Given the description of an element on the screen output the (x, y) to click on. 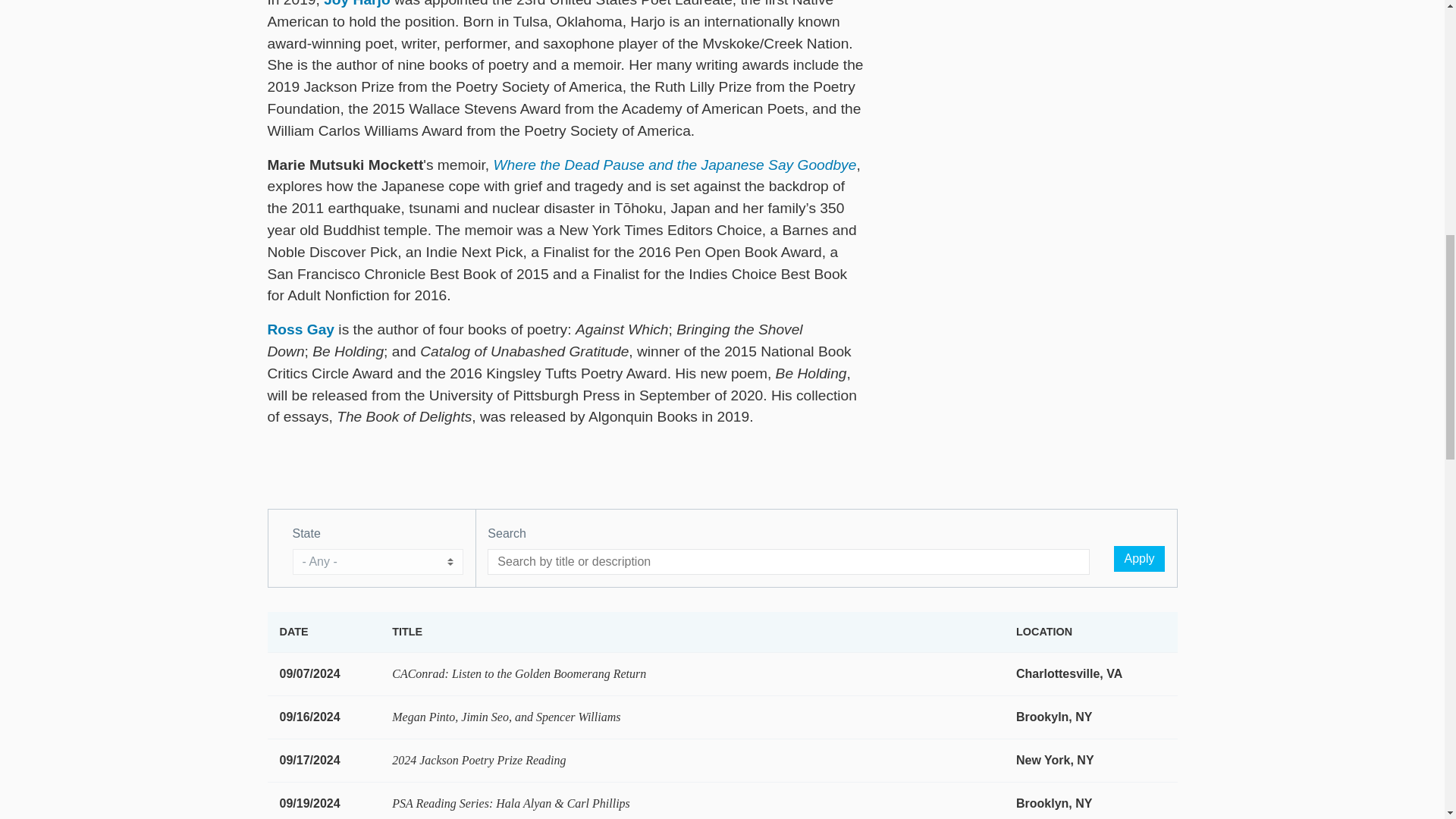
Joy Harjo (356, 3)
Megan Pinto, Jimin Seo, and Spencer Williams (505, 716)
2024 Jackson Poetry Prize Reading (478, 759)
Ross Gay (300, 329)
Where the Dead Pause and the Japanese Say Goodbye (674, 164)
Apply (1138, 558)
Apply (1138, 558)
CAConrad: Listen to the Golden Boomerang Return (518, 673)
